Given the description of an element on the screen output the (x, y) to click on. 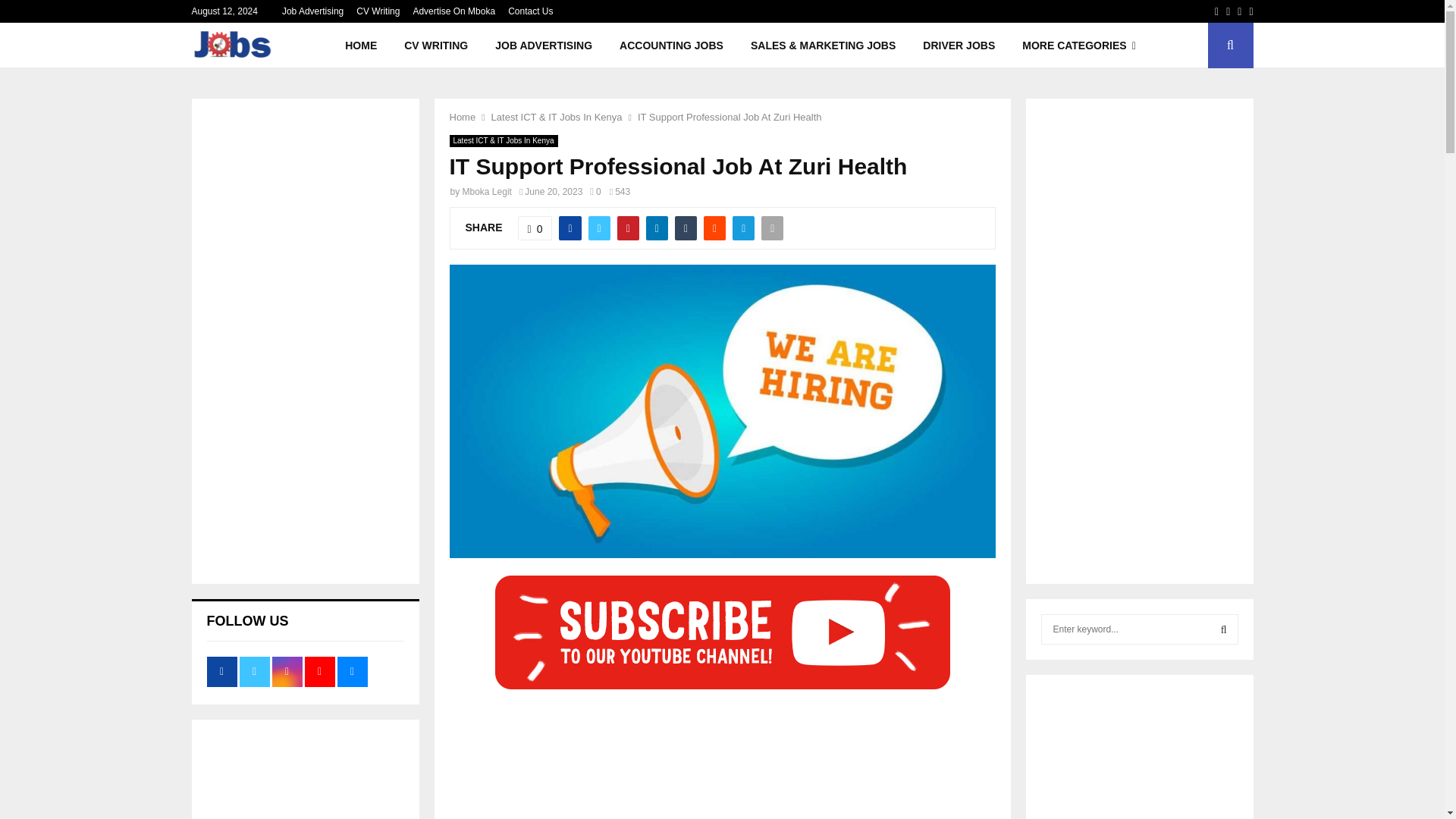
Advertise On Mboka (453, 11)
ACCOUNTING JOBS (670, 44)
DRIVER JOBS (958, 44)
HOME (360, 44)
Job Advertising (312, 11)
Advertisement (721, 756)
CV Writing (377, 11)
Like (535, 228)
MORE CATEGORIES (1079, 44)
JOB ADVERTISING (543, 44)
